Given the description of an element on the screen output the (x, y) to click on. 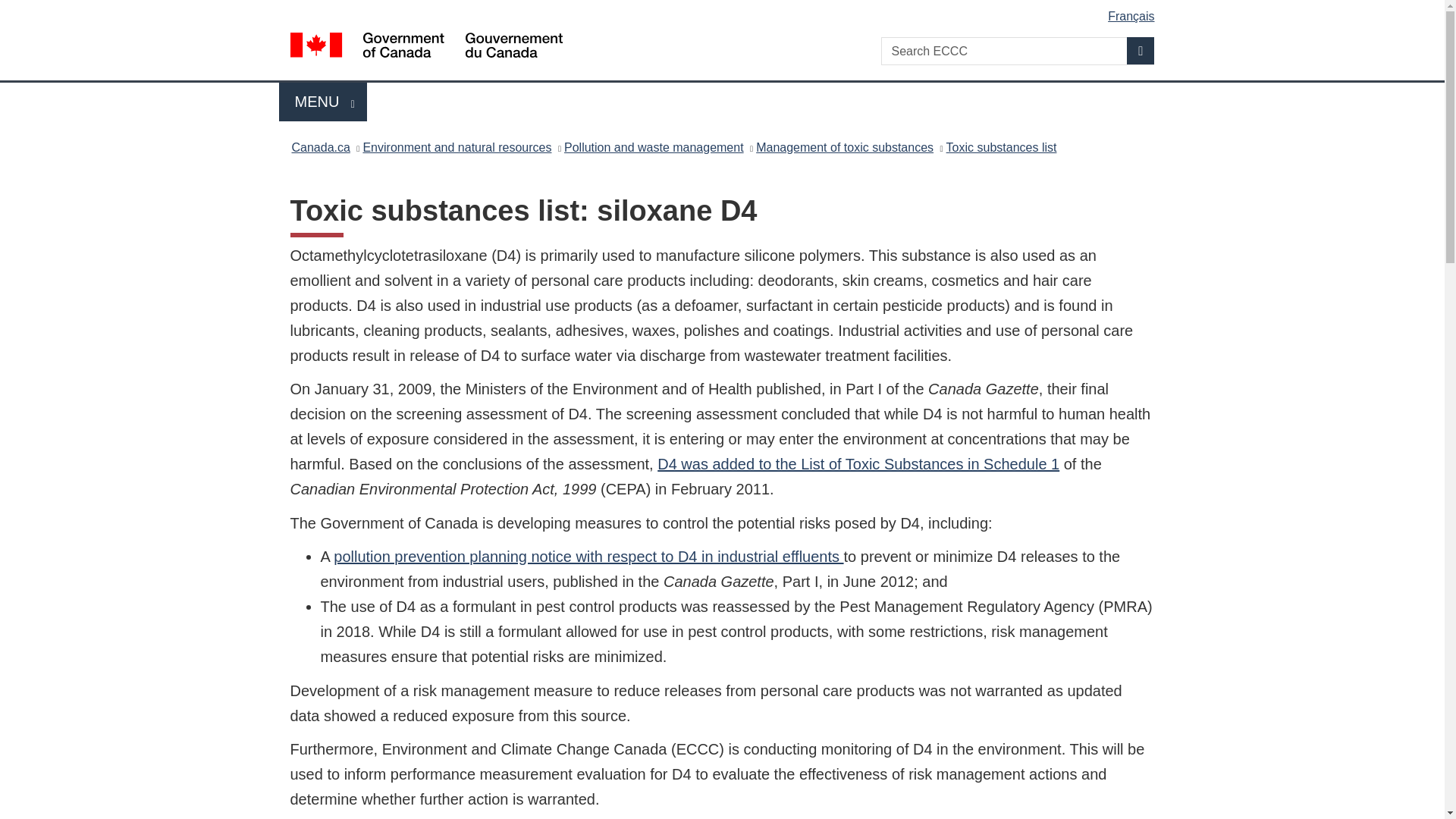
Search (1140, 50)
Toxic substances list (322, 101)
Pollution and waste management (1001, 147)
Canada.ca (654, 147)
Management of toxic substances (320, 147)
Environment and natural resources (844, 147)
D4 was added to the List of Toxic Substances in Schedule 1 (456, 147)
Skip to main content (858, 463)
